Given the description of an element on the screen output the (x, y) to click on. 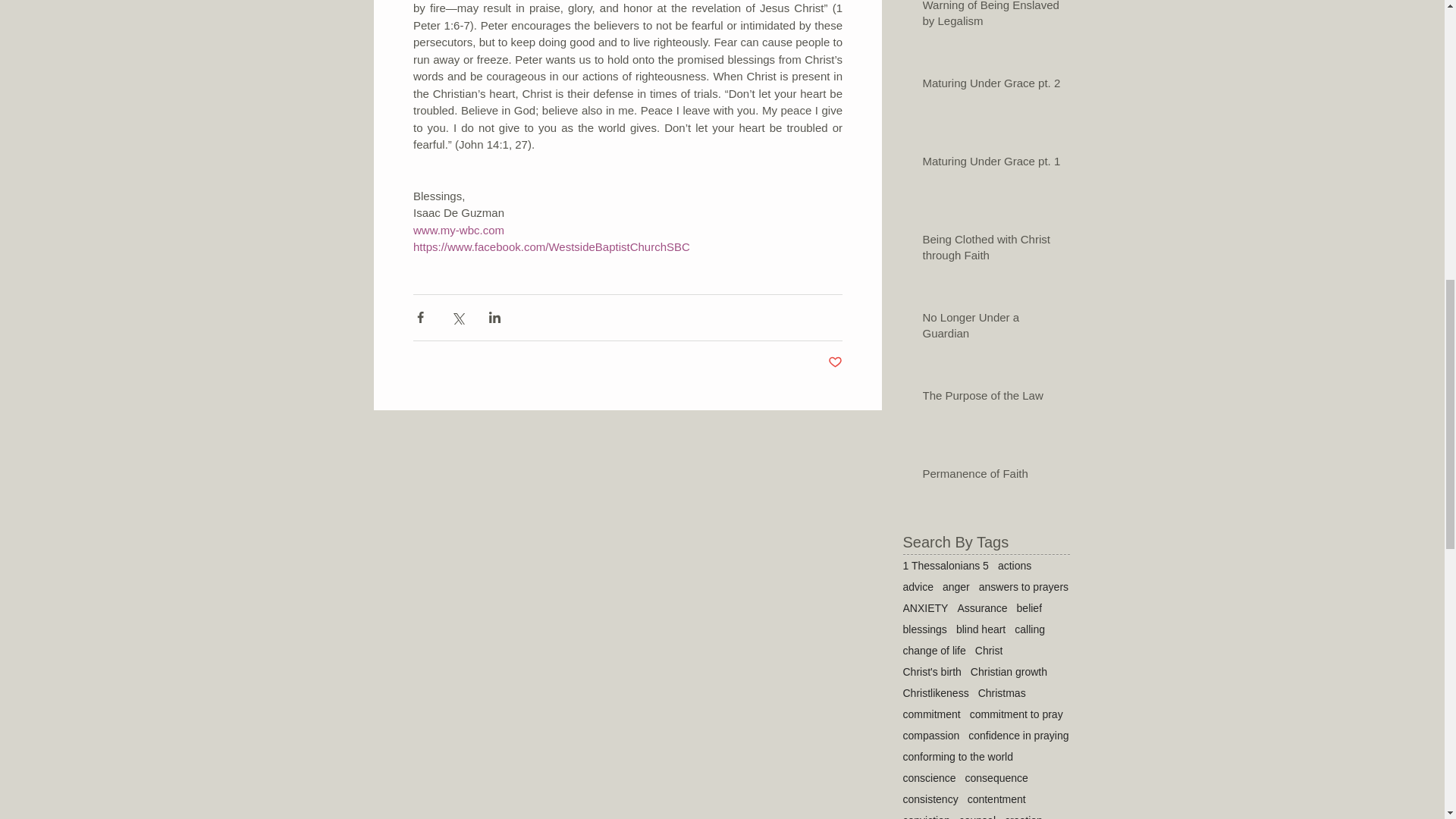
Maturing Under Grace pt. 1 (990, 164)
The Purpose of the Law (990, 398)
anger (955, 586)
blessings (924, 629)
1 Thessalonians 5 (945, 565)
Being Clothed with Christ through Faith (990, 249)
Maturing Under Grace pt. 2 (990, 86)
www.my-wbc.com (457, 228)
calling (1029, 629)
Assurance (981, 607)
actions (1013, 565)
Permanence of Faith (990, 476)
belief (1029, 607)
ANXIETY (924, 607)
Post not marked as liked (835, 362)
